Given the description of an element on the screen output the (x, y) to click on. 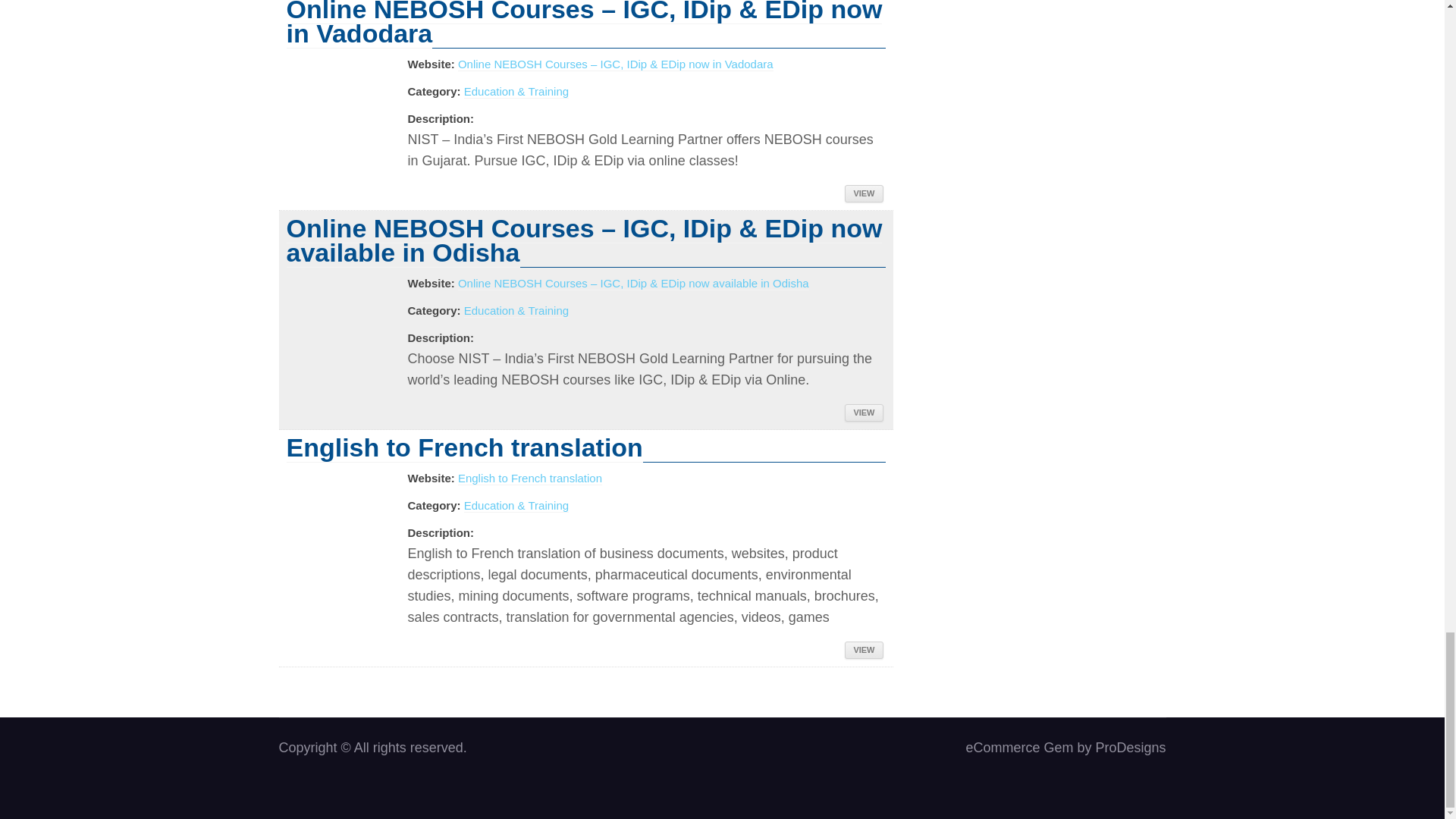
English to French translation (530, 478)
